Given the description of an element on the screen output the (x, y) to click on. 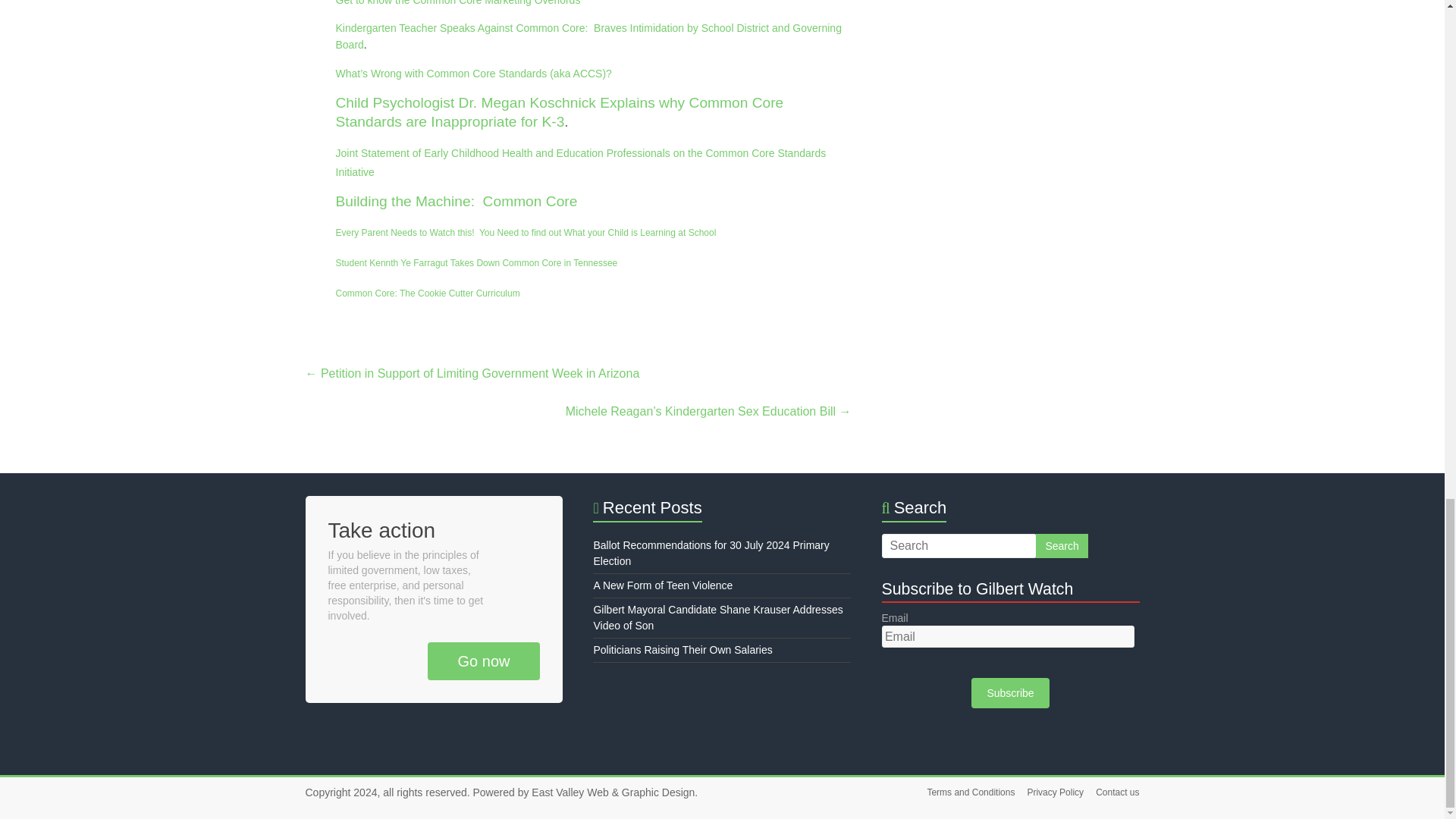
Go now (484, 661)
Building the Machine:  Common Core (455, 201)
Search (1061, 545)
Common Core: The Cookie Cutter Curriculum (426, 293)
Get to know the Common Core Marketing Overlords (456, 2)
